Given the description of an element on the screen output the (x, y) to click on. 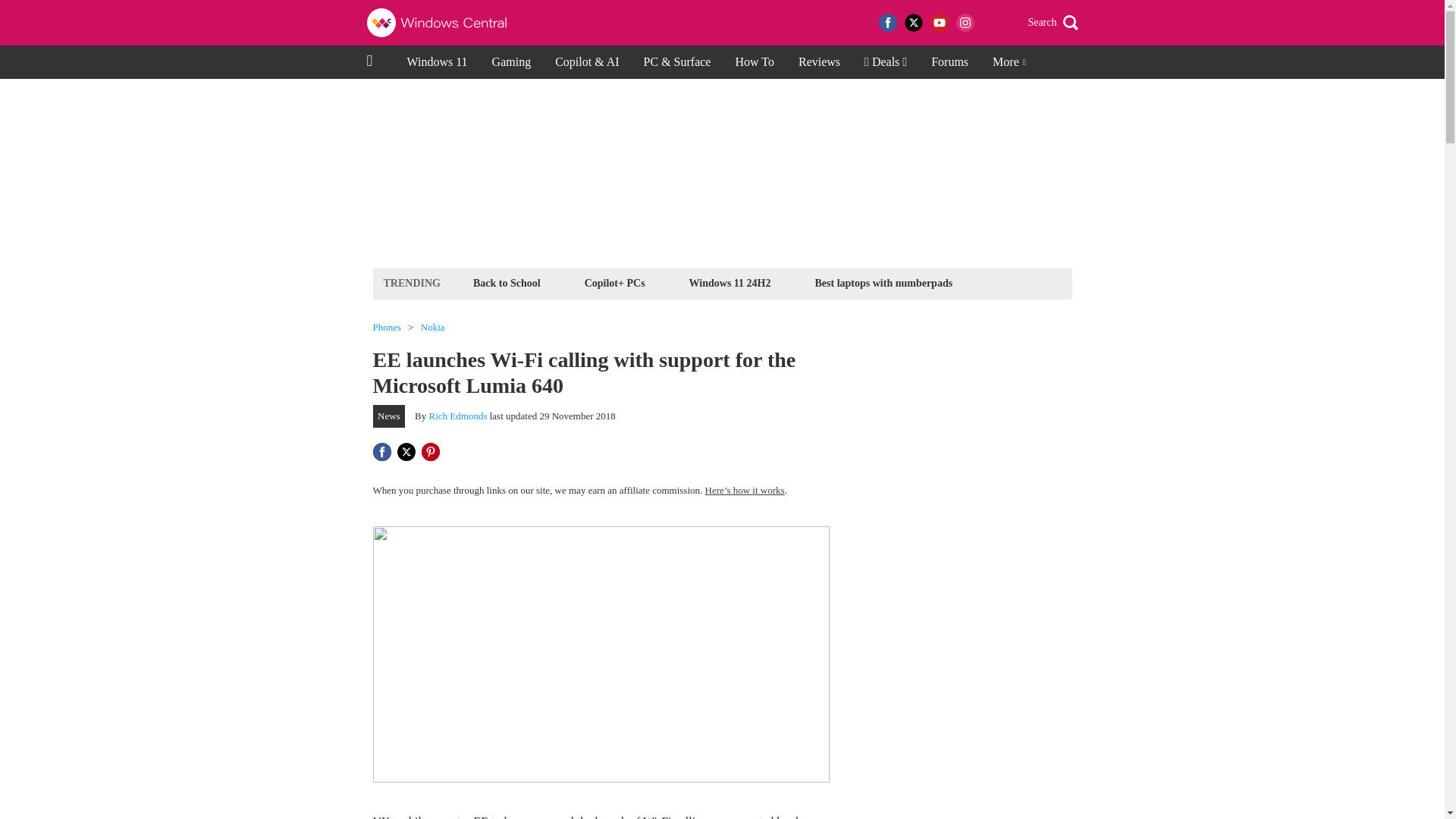
Gaming (511, 61)
Windows 11 24H2 (730, 282)
How To (754, 61)
Phones (386, 327)
Reviews (818, 61)
News (389, 415)
Forums (948, 61)
Best laptops with numberpads (883, 282)
Rich Edmonds (458, 415)
Back to School (506, 282)
